Given the description of an element on the screen output the (x, y) to click on. 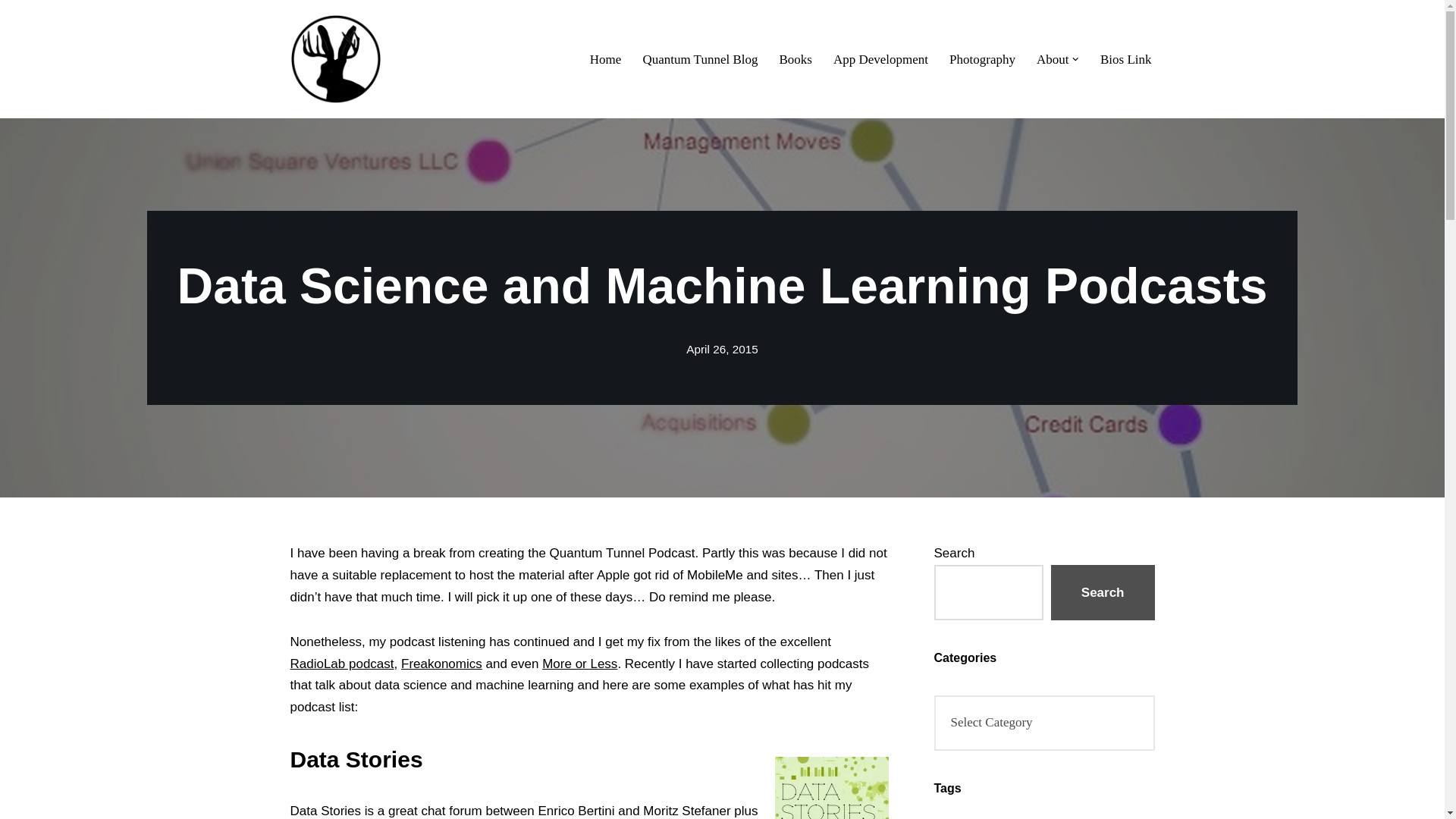
About (1052, 58)
App Development (880, 58)
RadioLab podcast (341, 663)
Data Stories (355, 759)
Freakonomics (441, 663)
Books (794, 58)
More or Less (579, 663)
Home (605, 58)
Bios Link (1125, 58)
Skip to content (11, 31)
Quantum Tunnel Blog (699, 58)
Photography (981, 58)
